Given the description of an element on the screen output the (x, y) to click on. 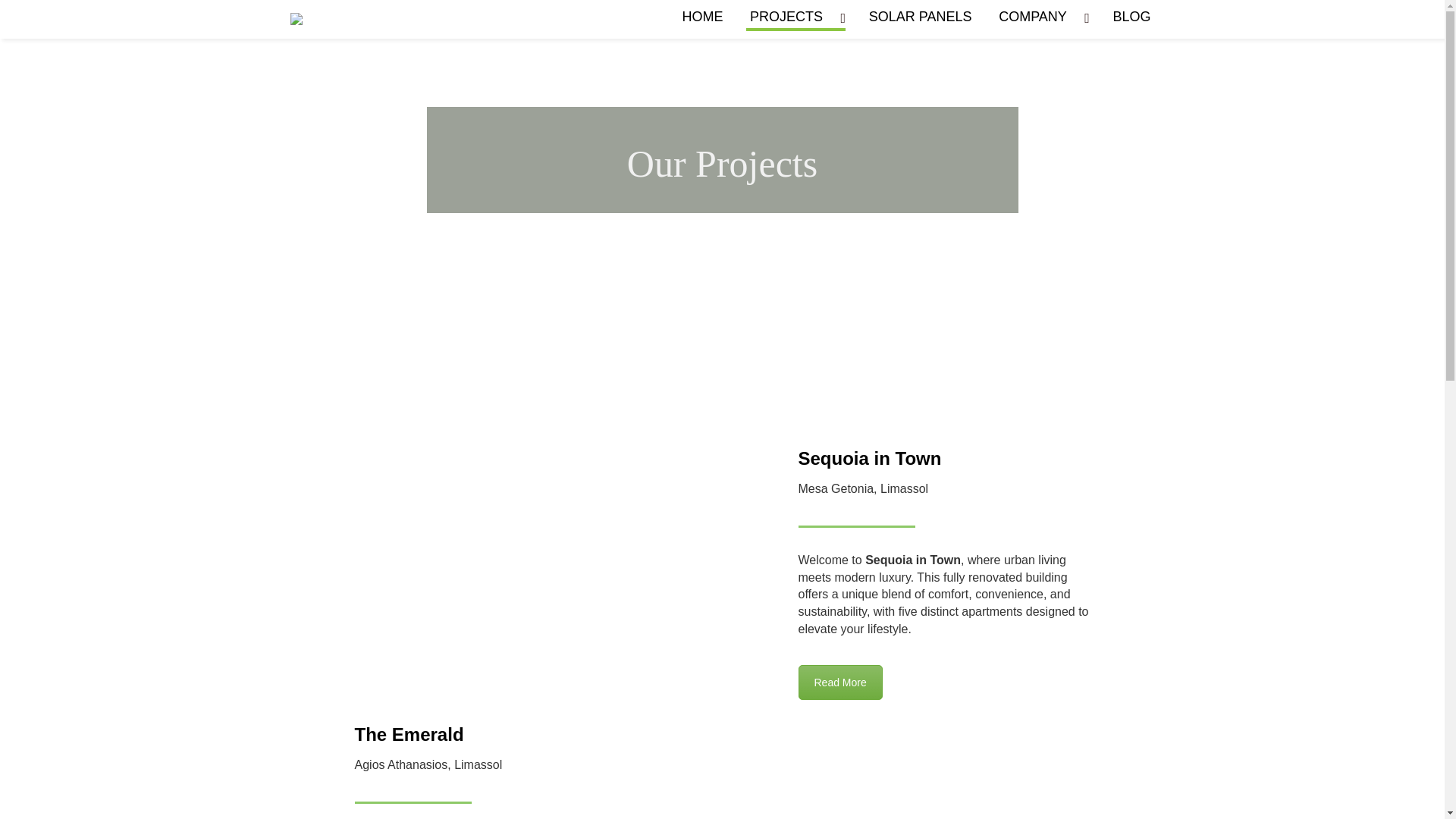
SOLAR PANELS (919, 19)
BLOG (1131, 19)
HOME (702, 19)
COMPANY (1041, 19)
Read More (839, 682)
Sequoia in Town: Urban Living Refined (839, 682)
PROJECTS (795, 19)
